Given the description of an element on the screen output the (x, y) to click on. 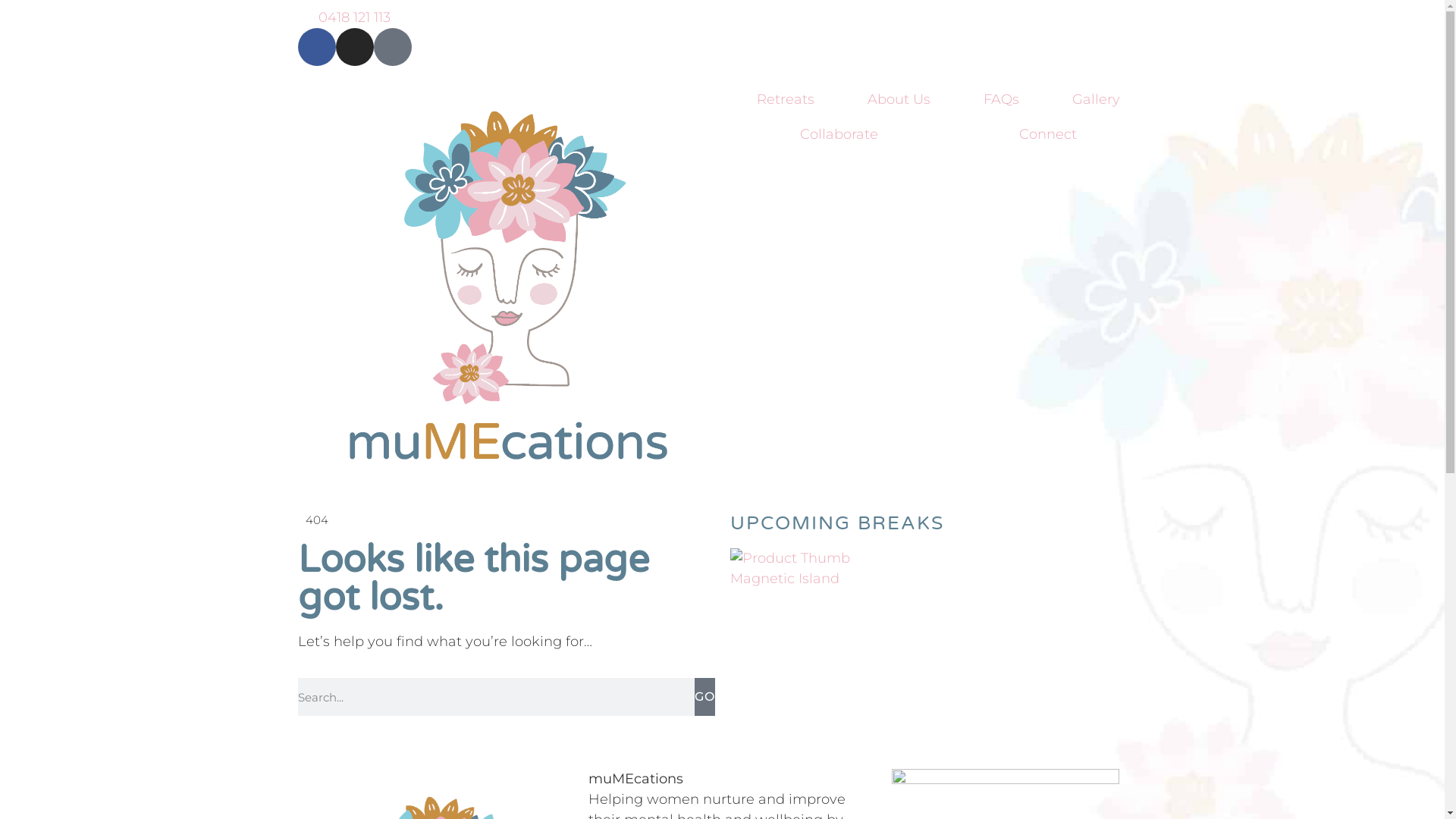
GO Element type: text (704, 696)
Magnetic Island Element type: text (937, 578)
Retreats Element type: text (784, 98)
Gallery Element type: text (1095, 98)
0418 121 113 Element type: text (721, 17)
About Us Element type: text (898, 98)
Connect Element type: text (1047, 133)
FAQs Element type: text (1001, 98)
Collaborate Element type: text (838, 133)
